Given the description of an element on the screen output the (x, y) to click on. 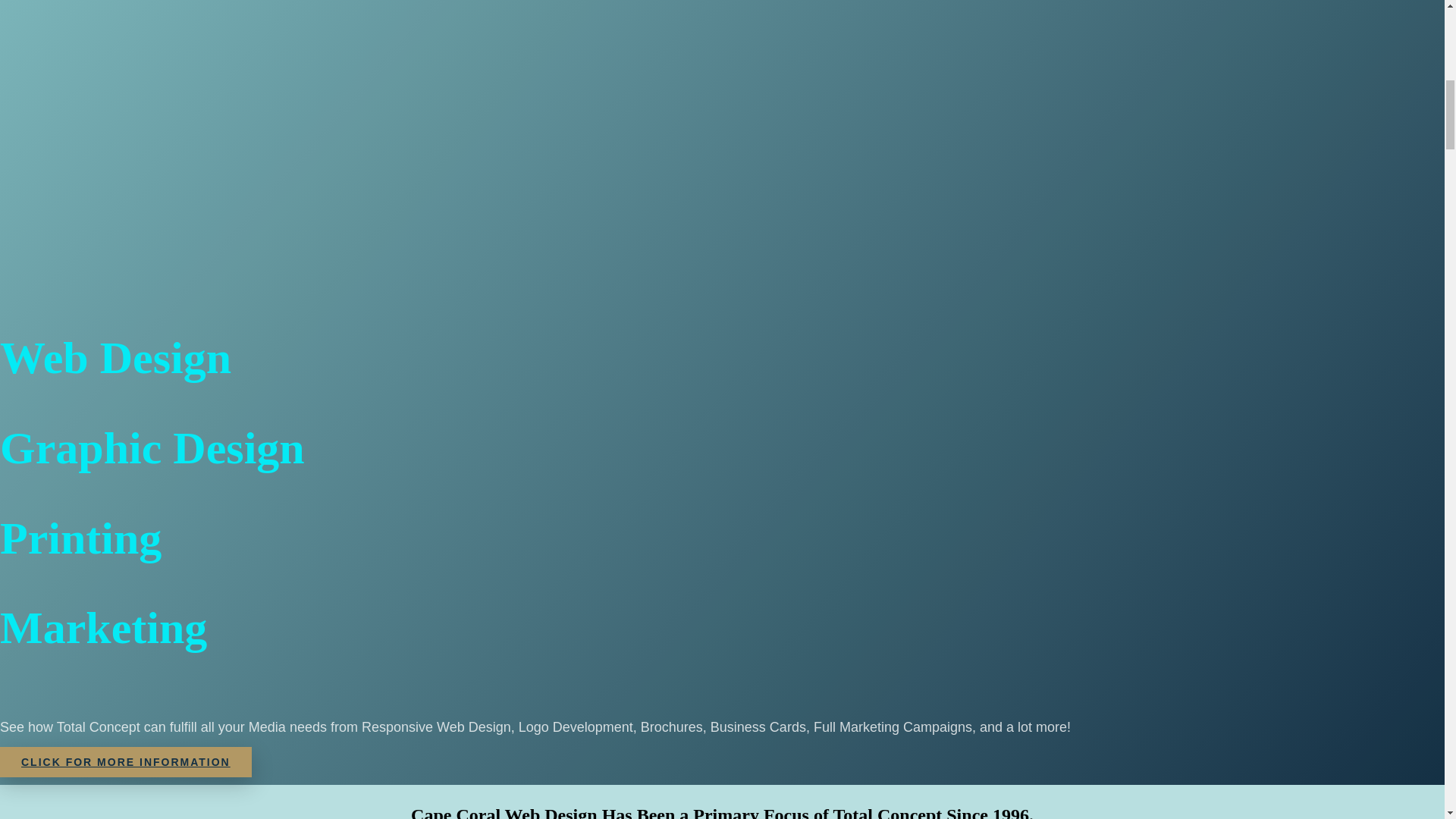
CLICK FOR MORE INFORMATION (125, 761)
